Given the description of an element on the screen output the (x, y) to click on. 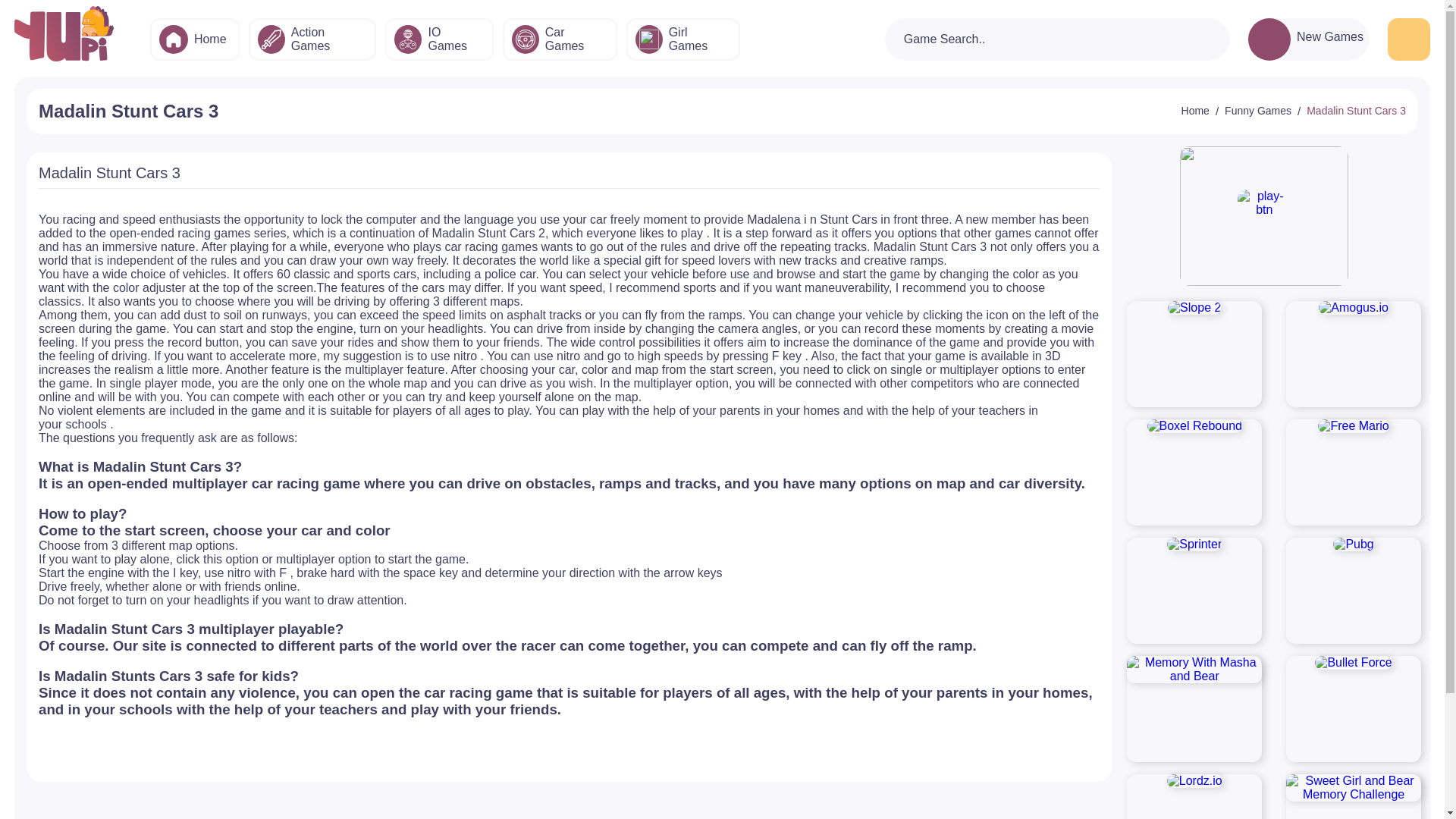
New Games (1329, 37)
Funny Games (1257, 110)
IO Games (439, 39)
Home (194, 39)
Car Games (559, 39)
Home (1194, 110)
Girl Games (682, 39)
Action Games (312, 39)
